Given the description of an element on the screen output the (x, y) to click on. 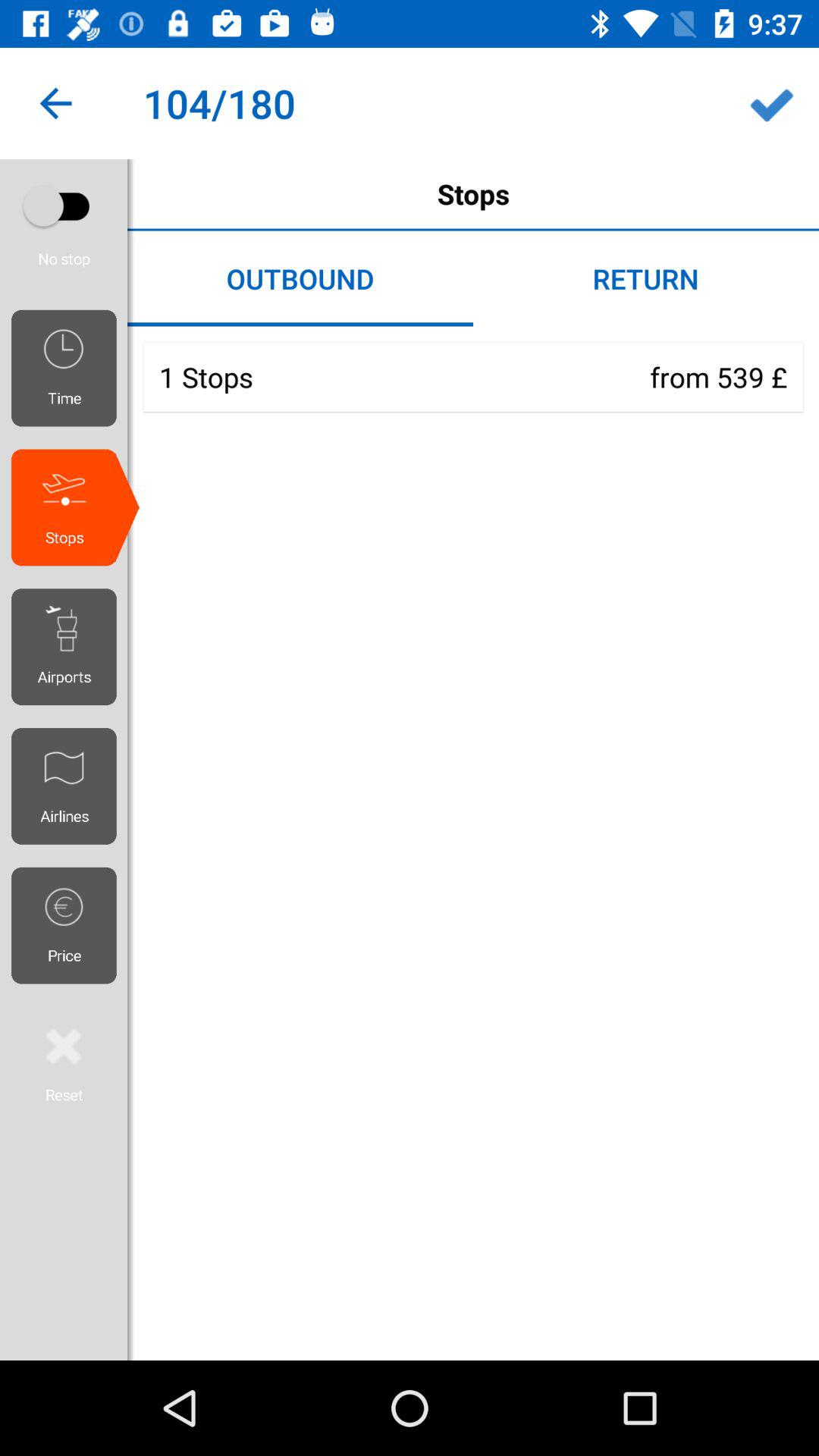
open icon below the airlines item (69, 925)
